Given the description of an element on the screen output the (x, y) to click on. 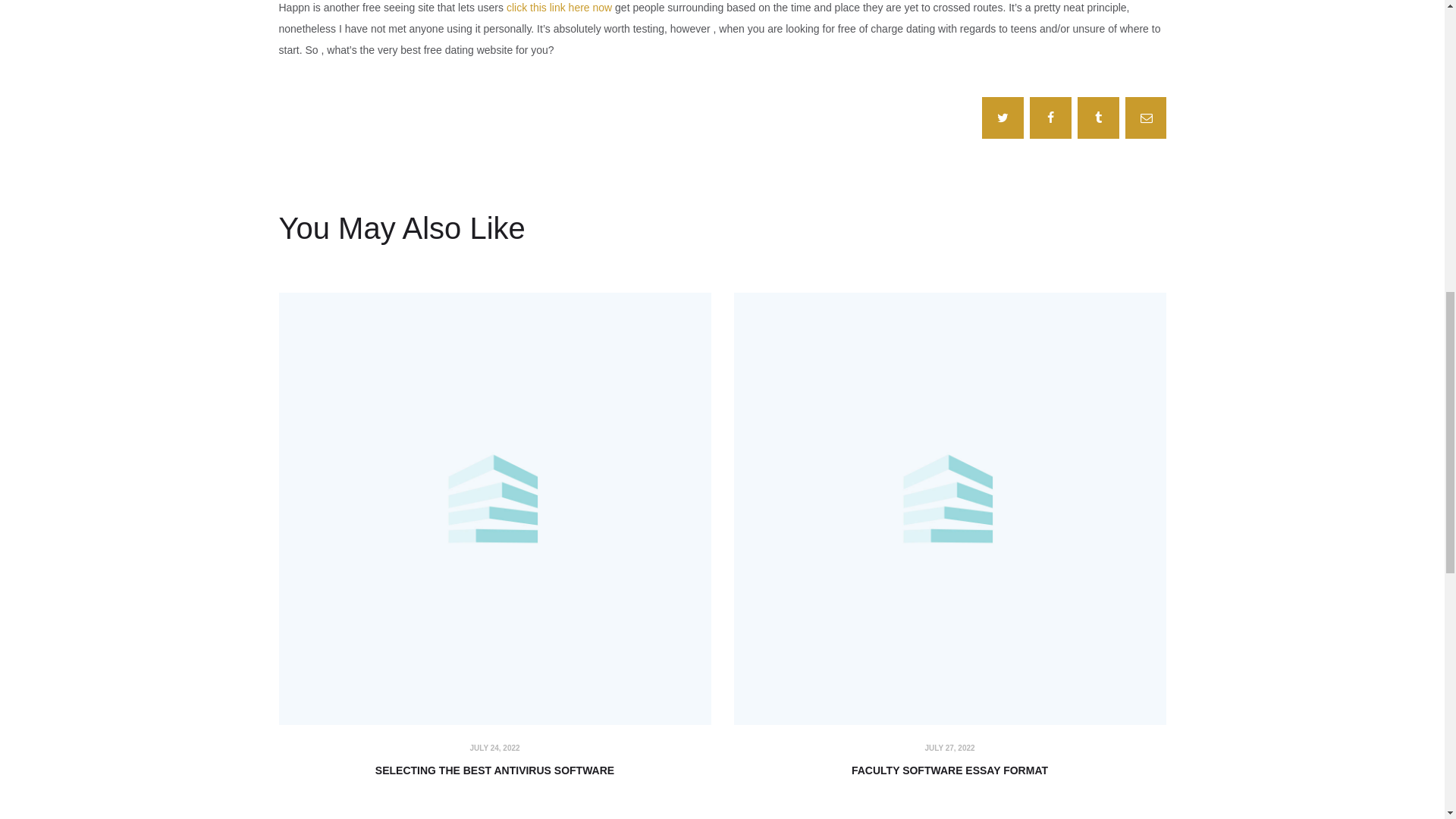
SELECTING THE BEST ANTIVIRUS SOFTWARE (495, 771)
click this link here now (558, 7)
JULY 24, 2022 (493, 747)
